Given the description of an element on the screen output the (x, y) to click on. 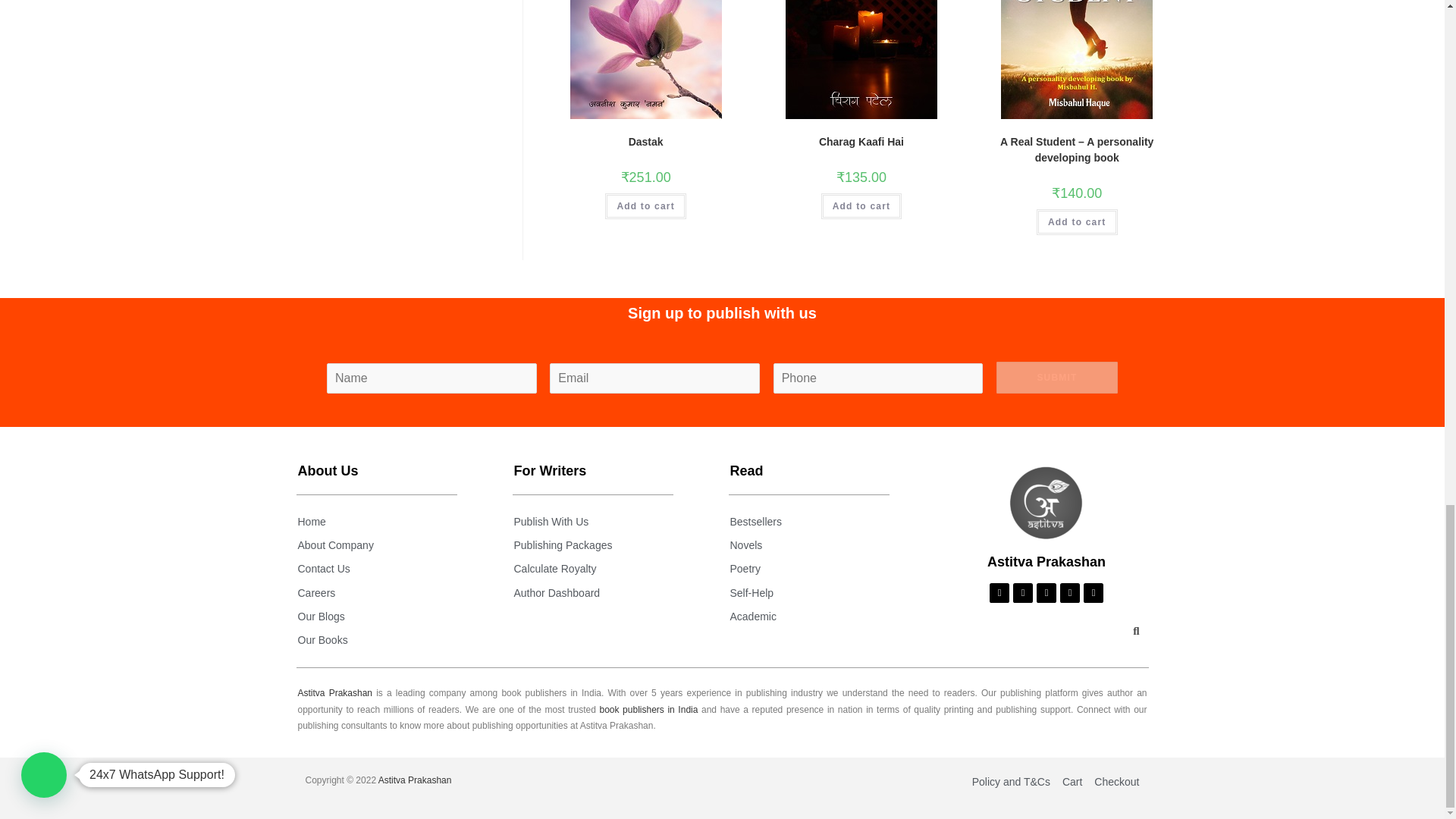
Astitva Prakashan (1046, 502)
Search (1131, 633)
